Given the description of an element on the screen output the (x, y) to click on. 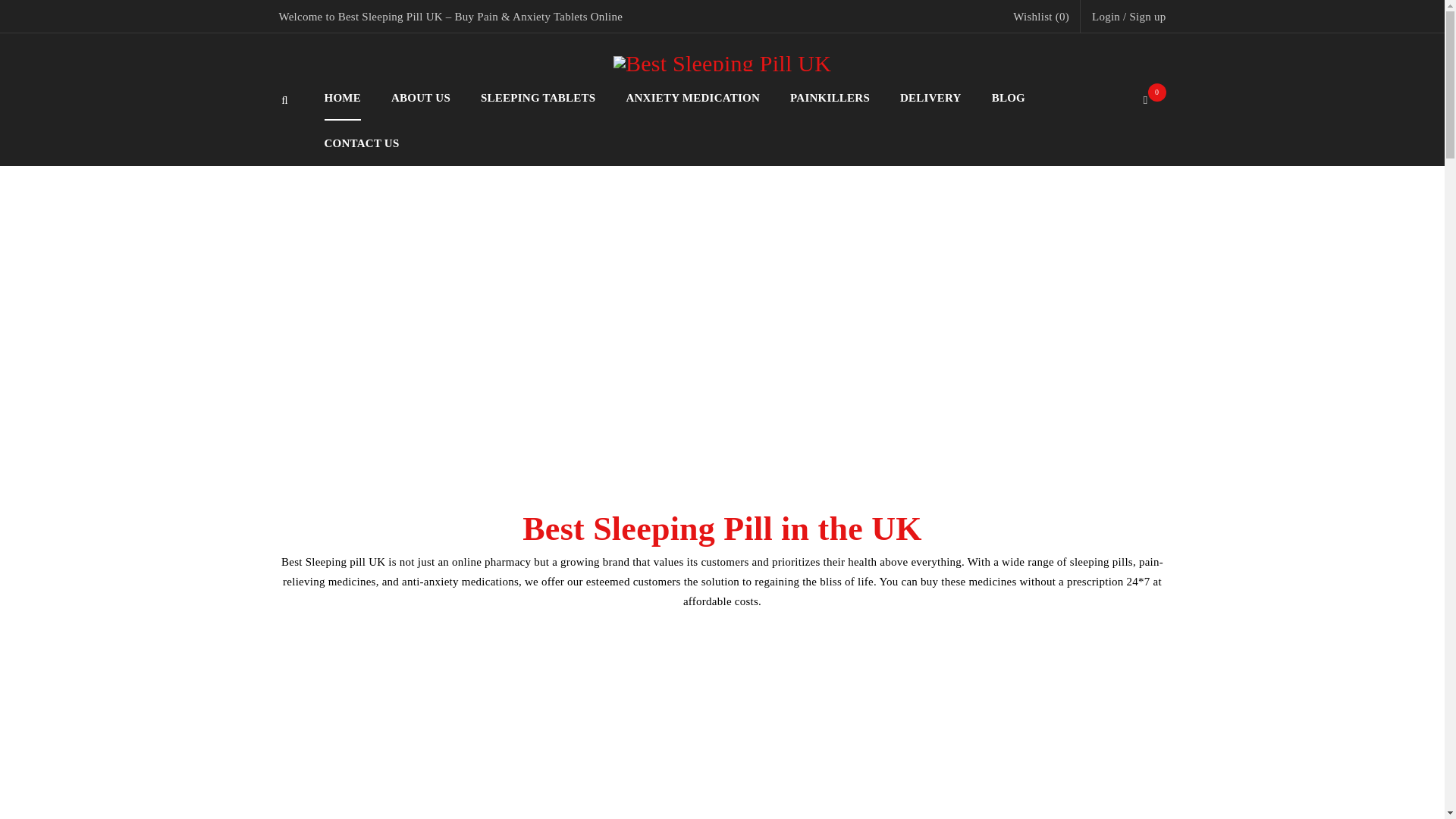
ABOUT US (420, 97)
View your shopping bag (1150, 100)
Login (1105, 16)
Login (1105, 16)
SLEEPING TABLETS (537, 97)
Best Sleeping Pill UK (721, 63)
Wishlist (1040, 16)
Sign up (1147, 16)
Log in (371, 477)
Register (802, 514)
